Given the description of an element on the screen output the (x, y) to click on. 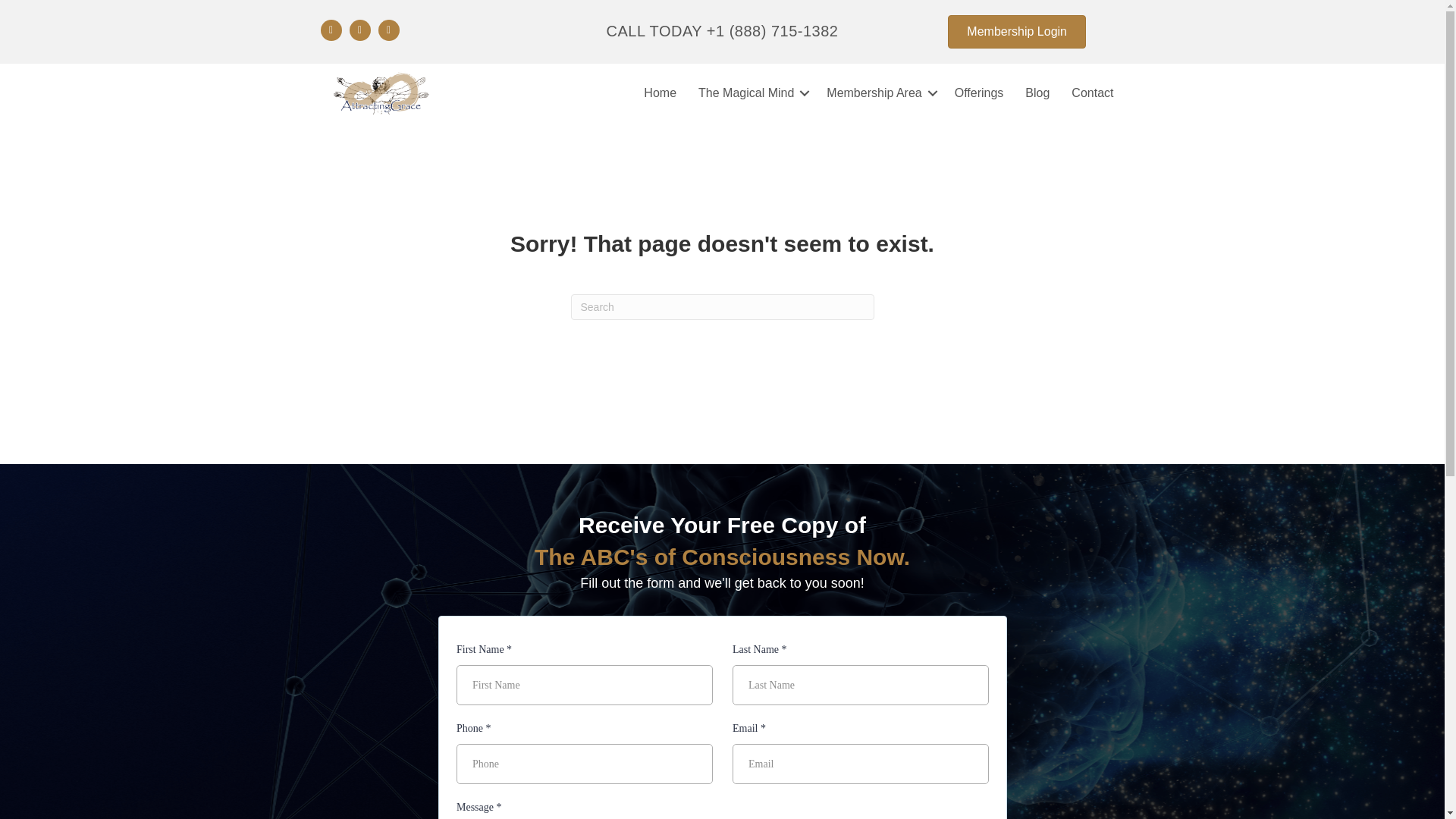
Type and press Enter to search. (721, 307)
Free Copy of ABC's of Consciousness (722, 717)
Contact (1092, 92)
Membership Area (878, 92)
Attracting Grace Logo (380, 92)
The Magical Mind (751, 92)
Membership Login (1016, 31)
Offerings (978, 92)
Home (660, 92)
Blog (1036, 92)
